Given the description of an element on the screen output the (x, y) to click on. 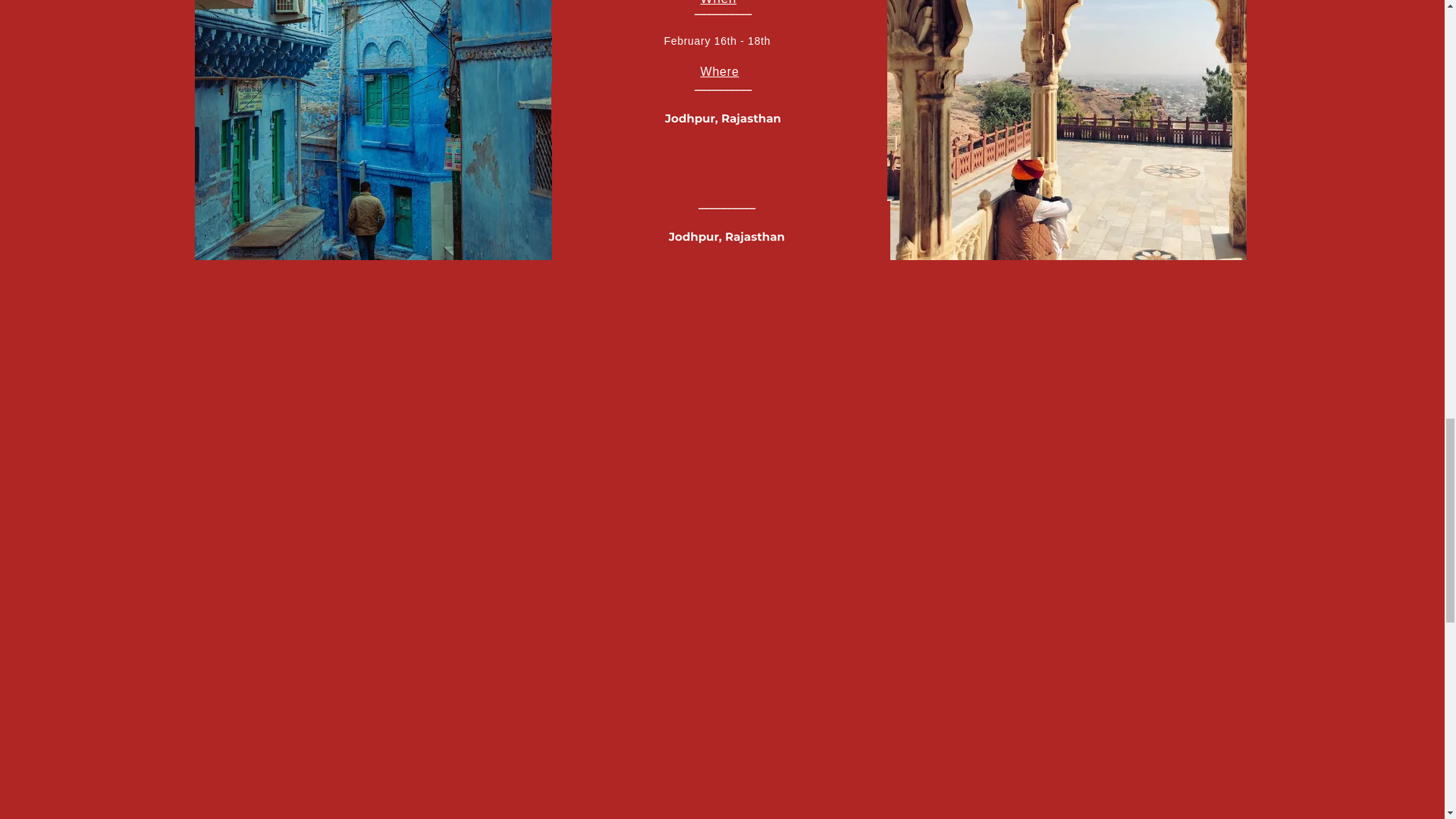
Screenshot 2023-08-16 at 2.21.55 PM.png (721, 230)
Screenshot 2023-08-16 at 2.21.55 PM.png (717, 20)
Screenshot 2023-08-16 at 2.21.55 PM.png (717, 111)
